Given the description of an element on the screen output the (x, y) to click on. 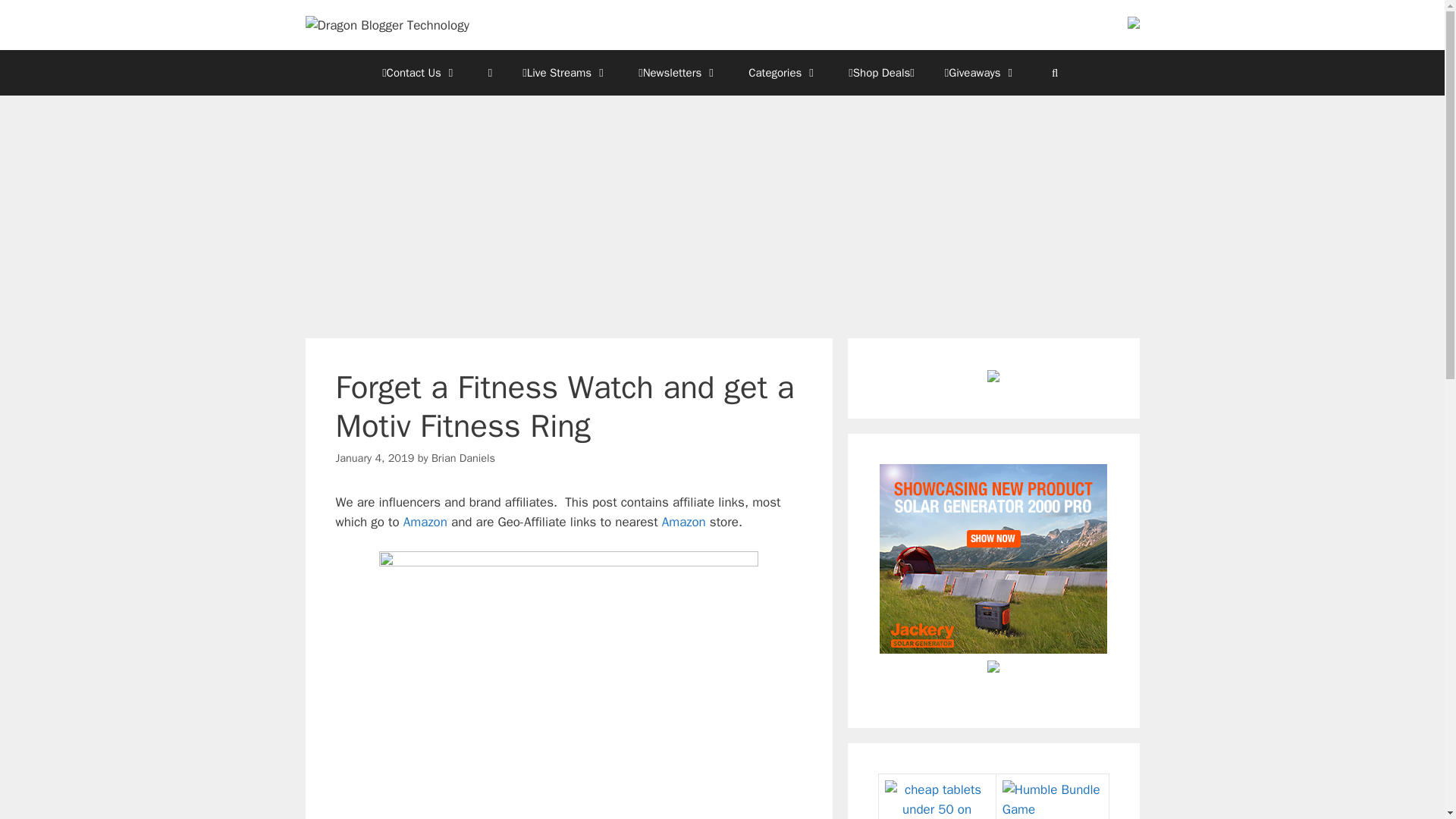
Categories (782, 72)
View all posts by Brian Daniels (462, 458)
Amazon Homepage (424, 521)
Amazon Homepage (684, 521)
